Given the description of an element on the screen output the (x, y) to click on. 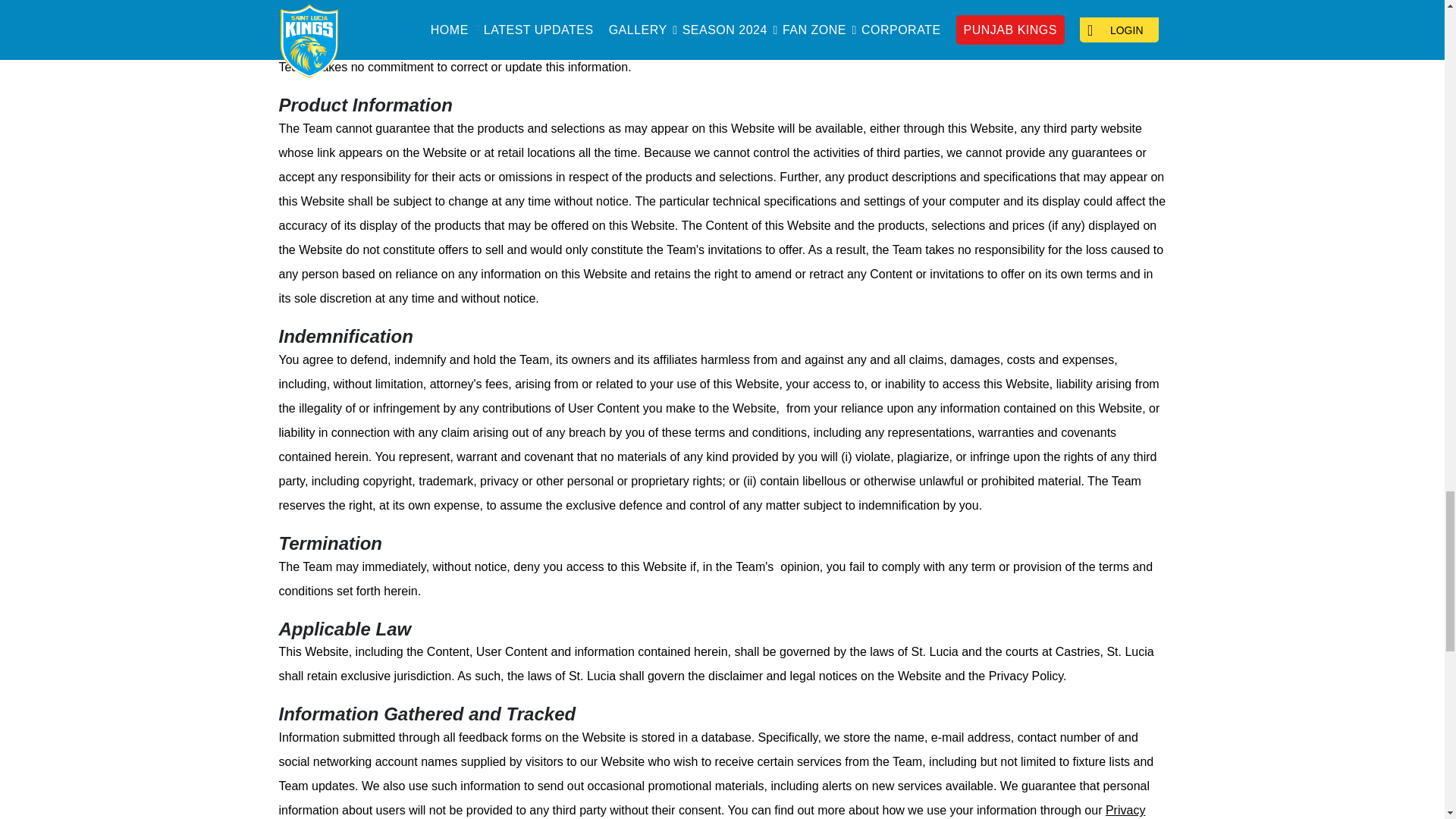
Privacy Policy (712, 811)
